Given the description of an element on the screen output the (x, y) to click on. 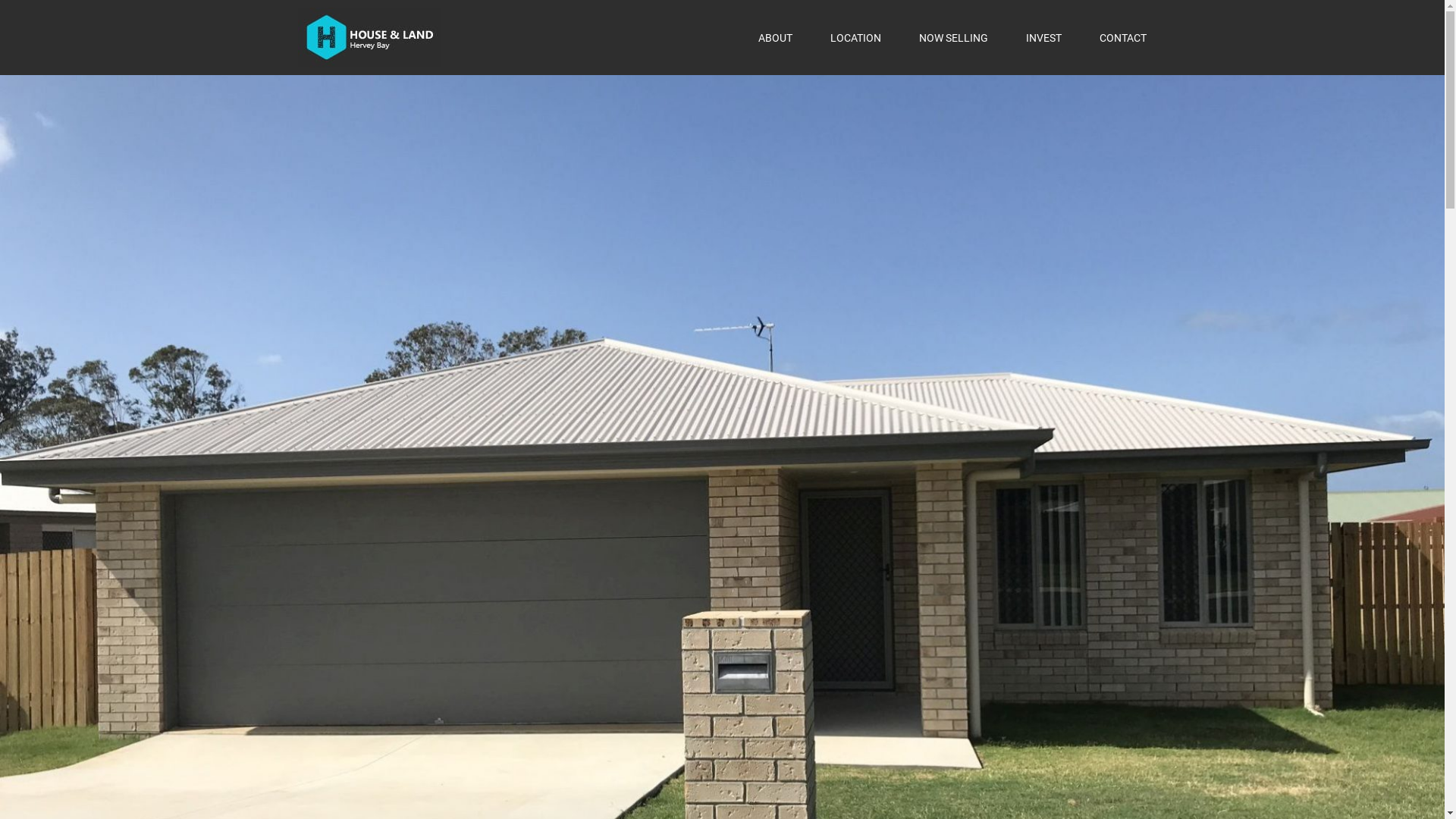
CONTACT Element type: text (1122, 36)
LOCATION Element type: text (855, 36)
NOW SELLING Element type: text (953, 36)
ABOUT Element type: text (775, 36)
INVEST Element type: text (1043, 36)
